Given the description of an element on the screen output the (x, y) to click on. 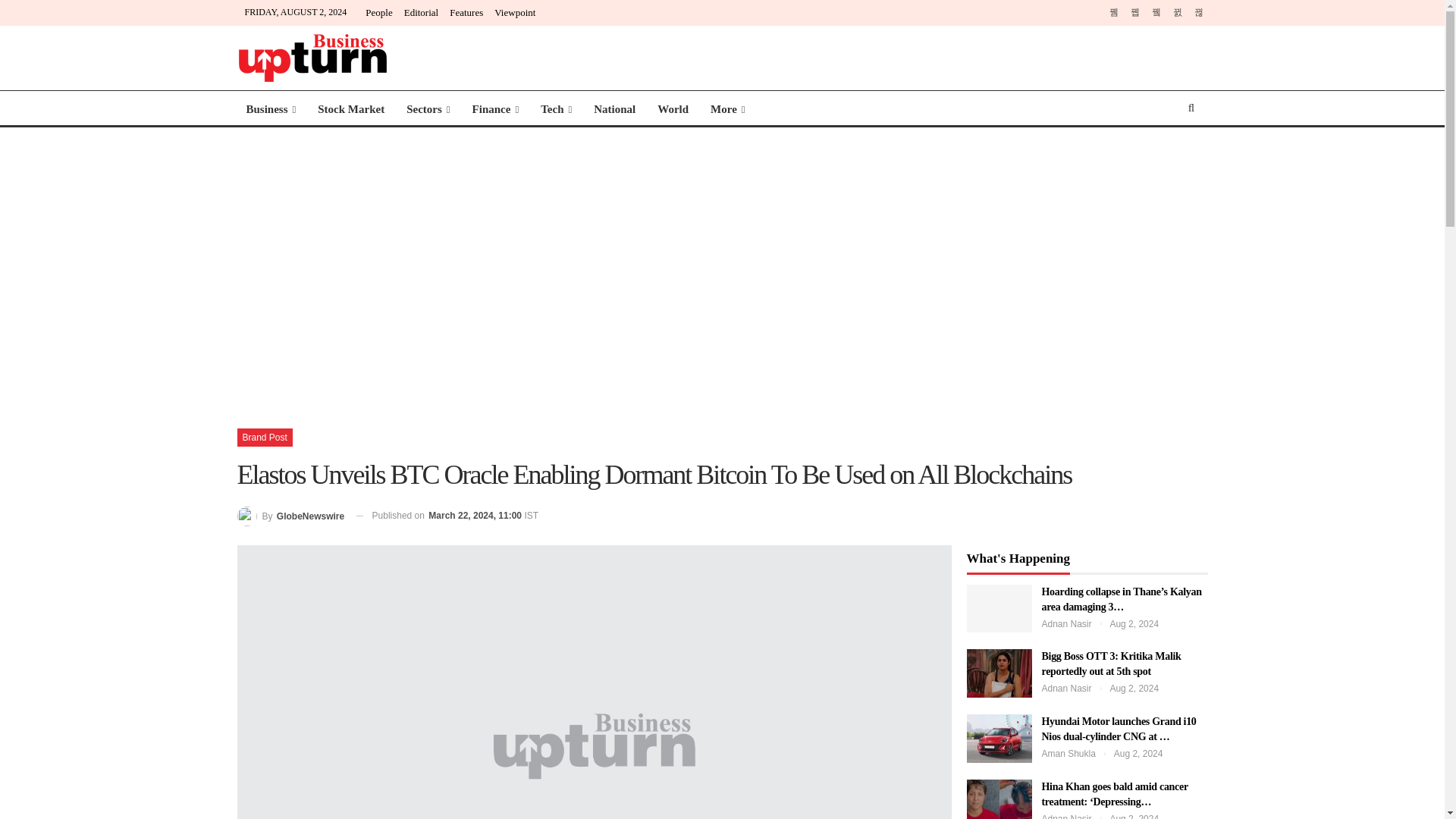
People (378, 12)
Features (466, 12)
Browse Author Articles (289, 516)
Business (269, 108)
Editorial (421, 12)
Stock Market (350, 108)
Finance (495, 108)
Sectors (427, 108)
Viewpoint (515, 12)
